Given the description of an element on the screen output the (x, y) to click on. 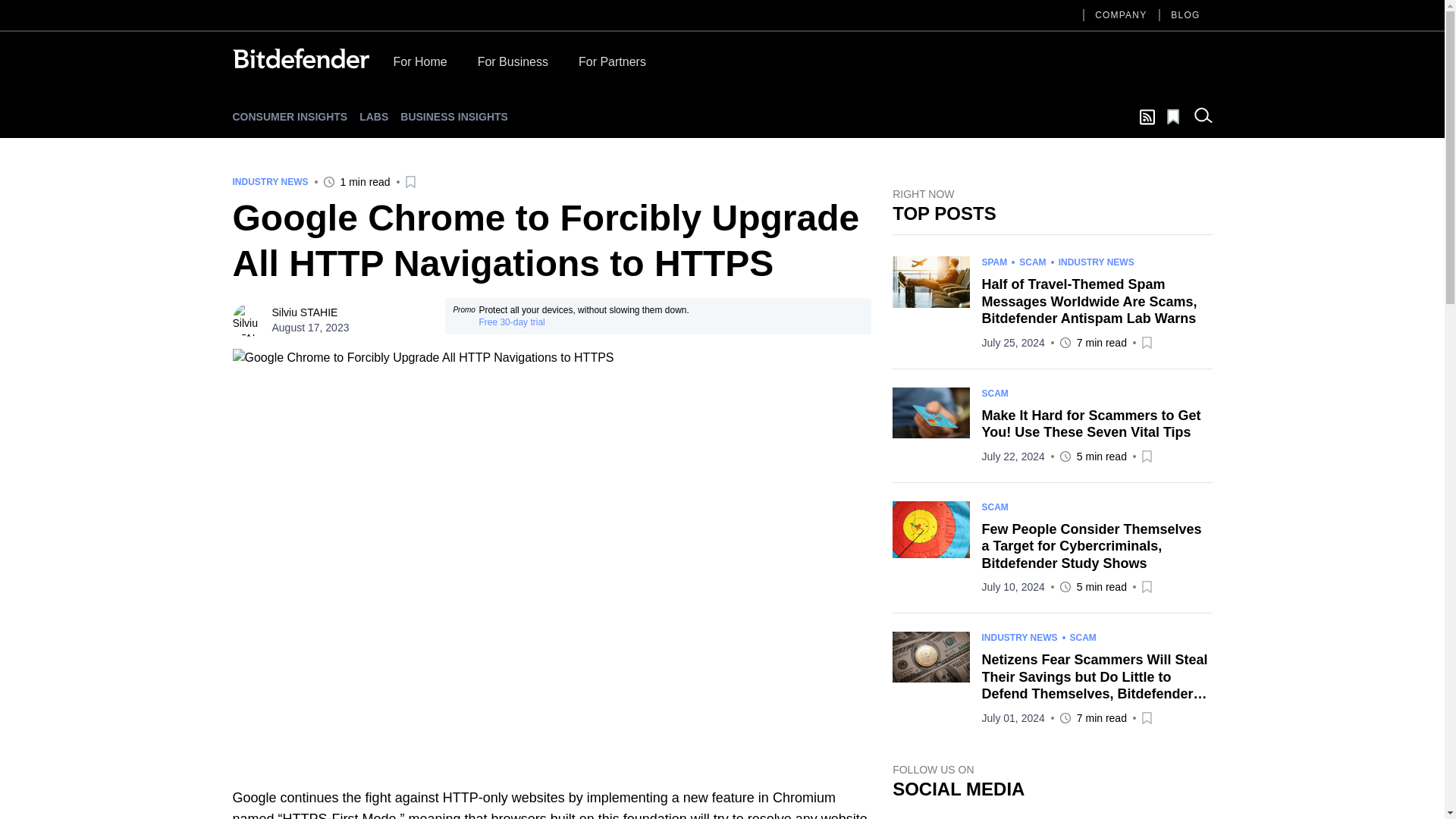
COMPANY (1120, 15)
Industry News (269, 182)
BLOG (1184, 15)
Silviu STAHIE (303, 312)
SCAM (994, 506)
INDUSTRY NEWS (1019, 637)
SCAM (994, 392)
Silviu STAHIE (247, 319)
